Given the description of an element on the screen output the (x, y) to click on. 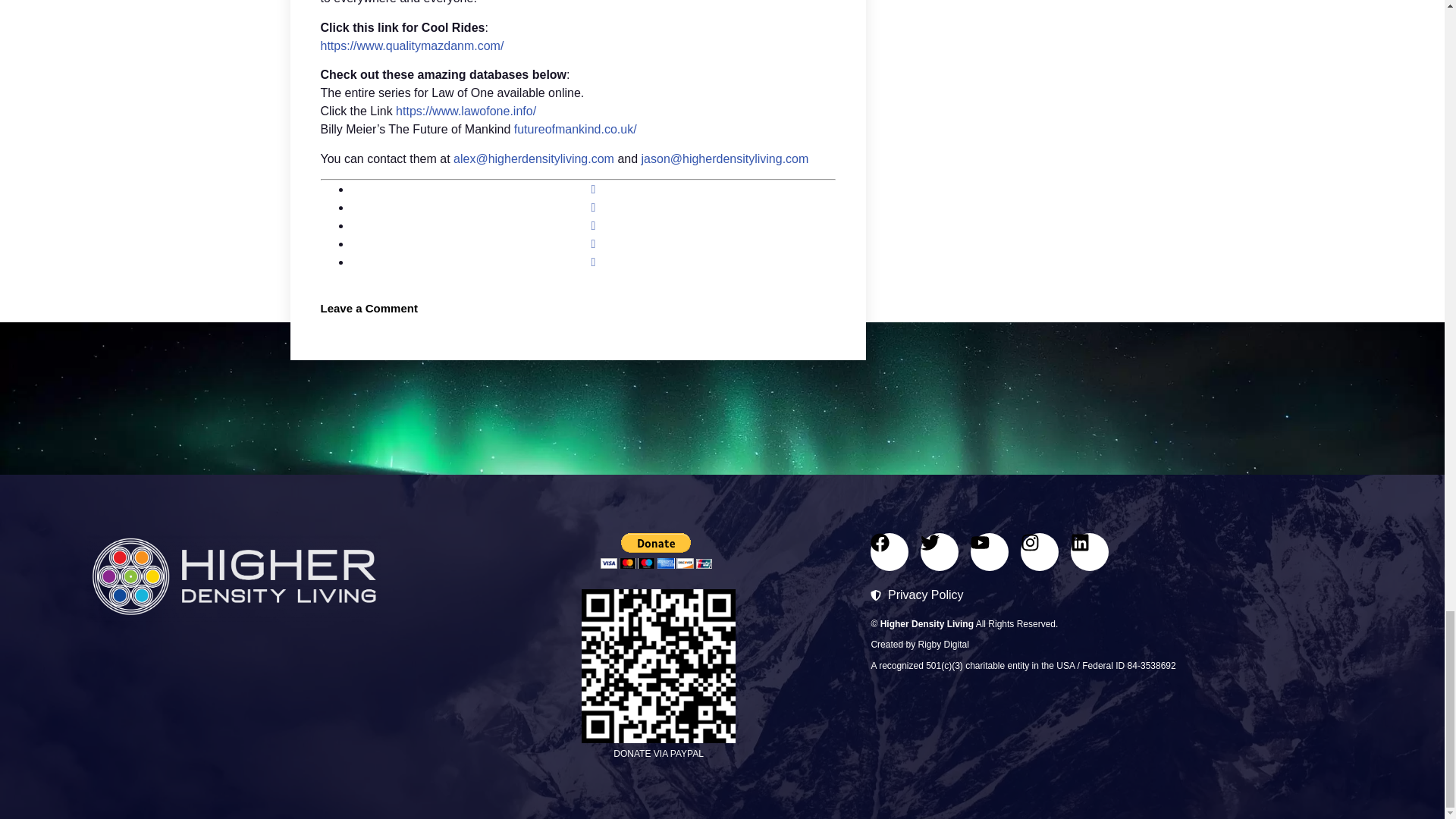
PayPal - The safer, easier way to pay online! (655, 550)
